Given the description of an element on the screen output the (x, y) to click on. 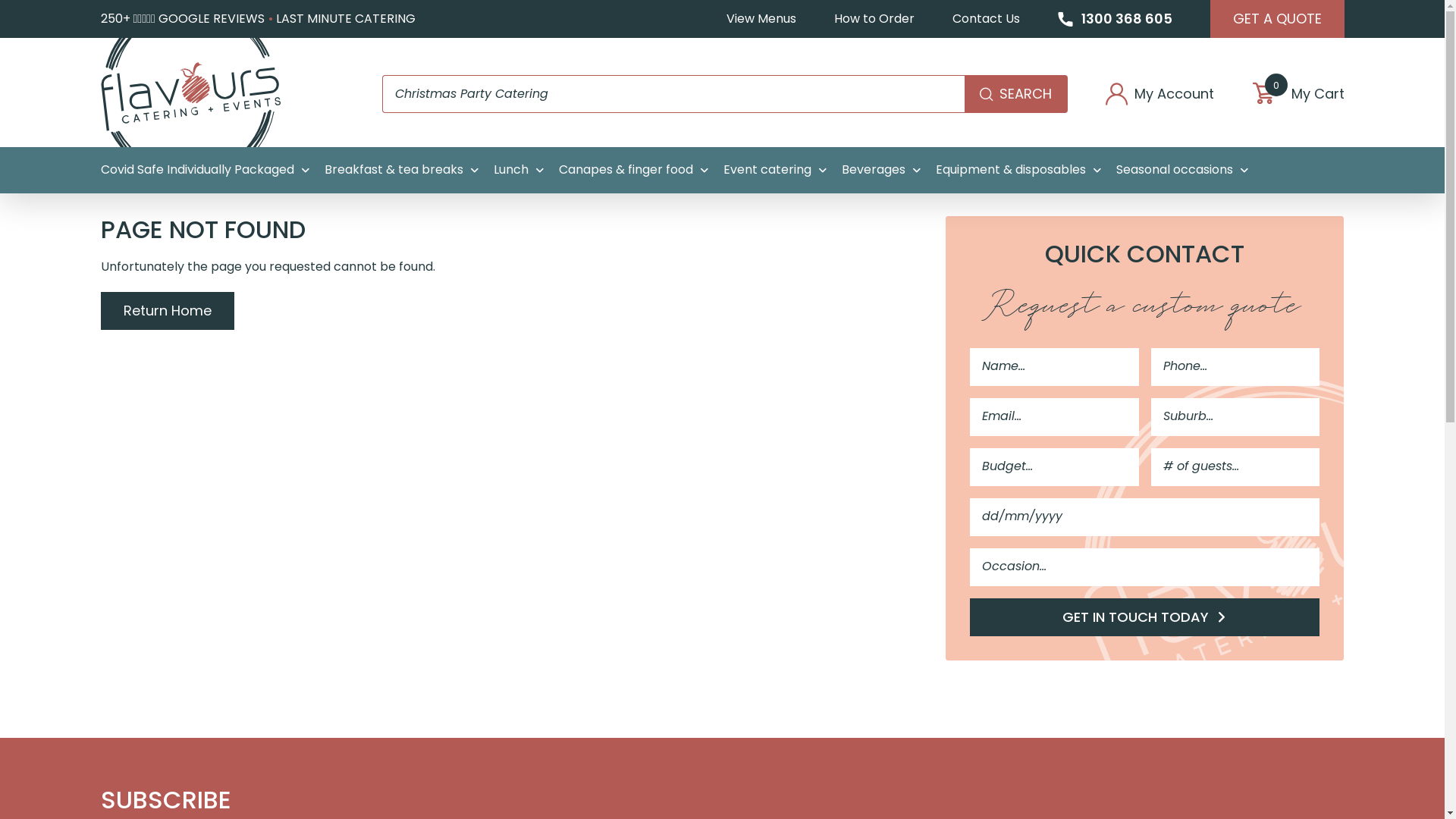
0
My Cart Element type: text (1297, 93)
SEARCH Element type: text (1015, 93)
Covid Safe Individually Packaged Element type: text (204, 170)
Seasonal occasions Element type: text (1182, 170)
Return Home Element type: text (166, 310)
GET A QUOTE Element type: text (1277, 18)
Equipment & disposables Element type: text (1018, 170)
View Menus Element type: text (761, 18)
Contact Us Element type: text (985, 18)
Beverages Element type: text (880, 170)
Lunch Element type: text (517, 170)
How to Order Element type: text (874, 18)
GET IN TOUCH TODAY Element type: text (1144, 617)
My Account Element type: text (1159, 93)
Event catering Element type: text (774, 170)
Breakfast & tea breaks Element type: text (401, 170)
1300 368 605 Element type: text (1114, 18)
Canapes & finger food Element type: text (632, 170)
